Given the description of an element on the screen output the (x, y) to click on. 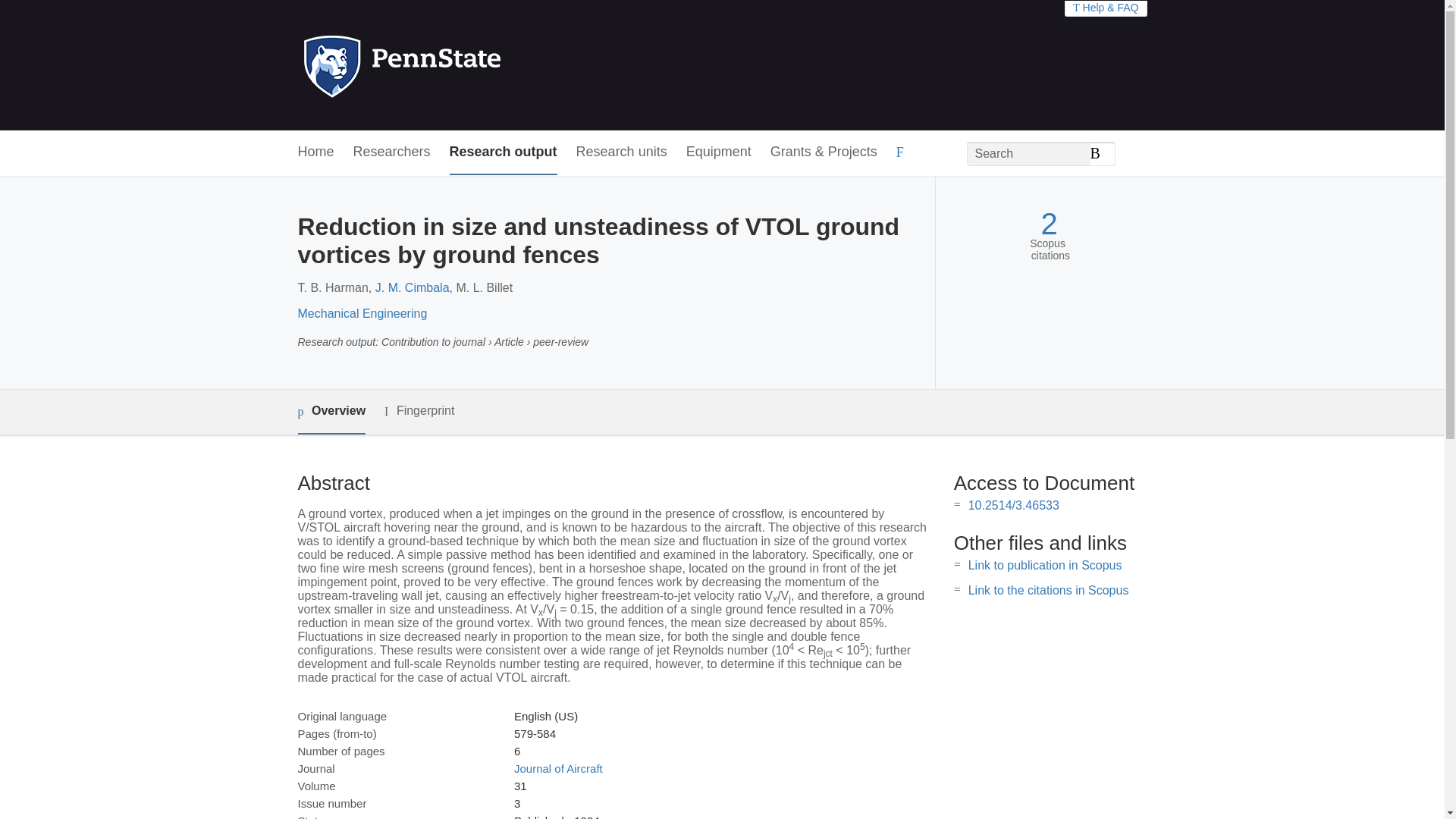
Link to publication in Scopus (1045, 564)
Research output (503, 152)
Journal of Aircraft (557, 768)
J. M. Cimbala (412, 287)
Equipment (718, 152)
Penn State Home (467, 65)
Overview (331, 411)
Researchers (391, 152)
Fingerprint (419, 411)
Mechanical Engineering (361, 313)
